Given the description of an element on the screen output the (x, y) to click on. 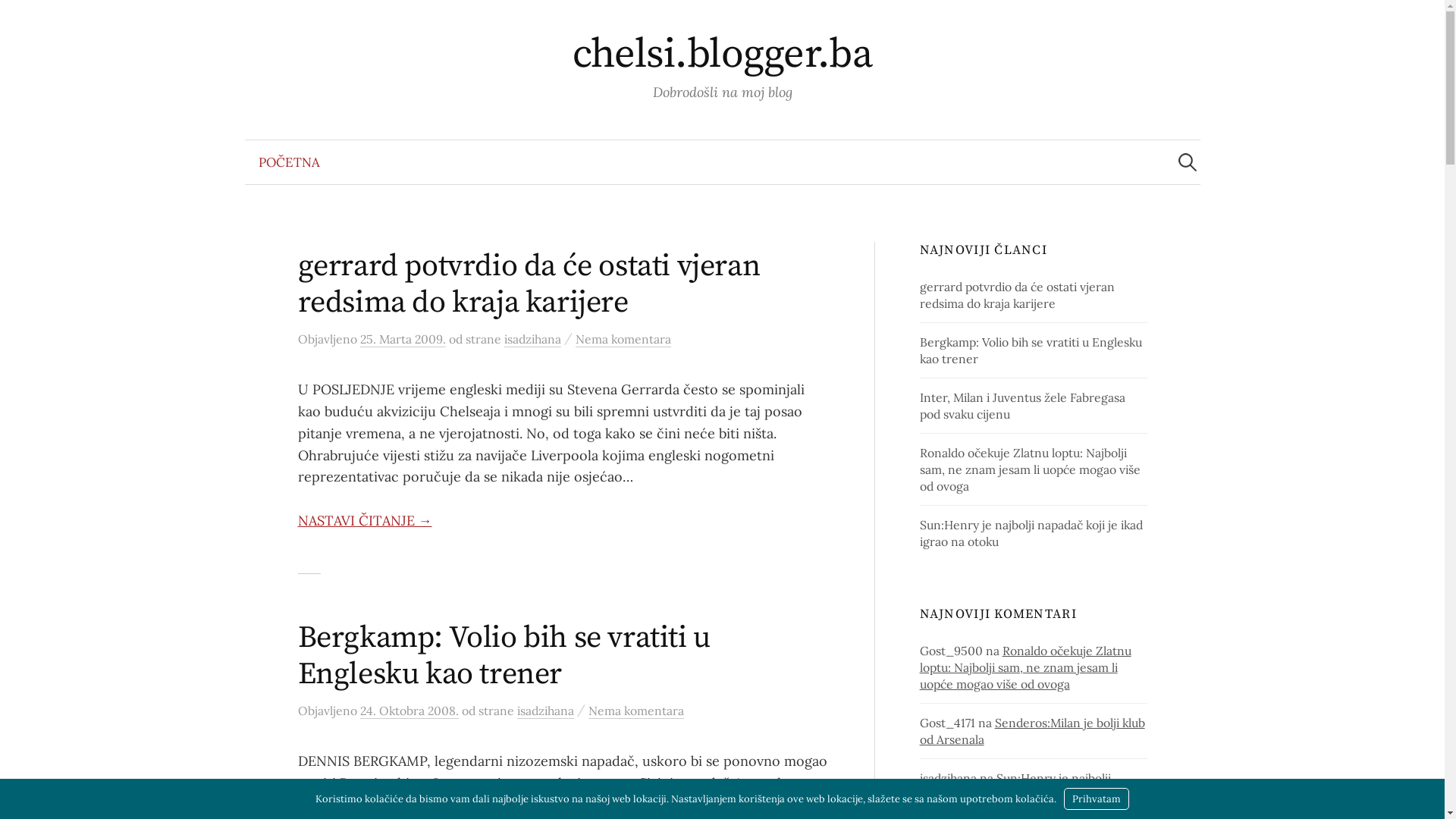
chelsi.blogger.ba Element type: text (722, 54)
Bergkamp: Volio bih se vratiti u Englesku kao trener Element type: text (503, 655)
Pretraga Element type: text (18, 18)
Prihvatam Element type: text (1096, 798)
Senderos:Milan je bolji klub od Arsenala Element type: text (1032, 730)
Bergkamp: Volio bih se vratiti u Englesku kao trener Element type: text (1030, 350)
24. Oktobra 2008. Element type: text (408, 710)
isadzihana Element type: text (545, 710)
25. Marta 2009. Element type: text (402, 339)
isadzihana Element type: text (531, 339)
